Given the description of an element on the screen output the (x, y) to click on. 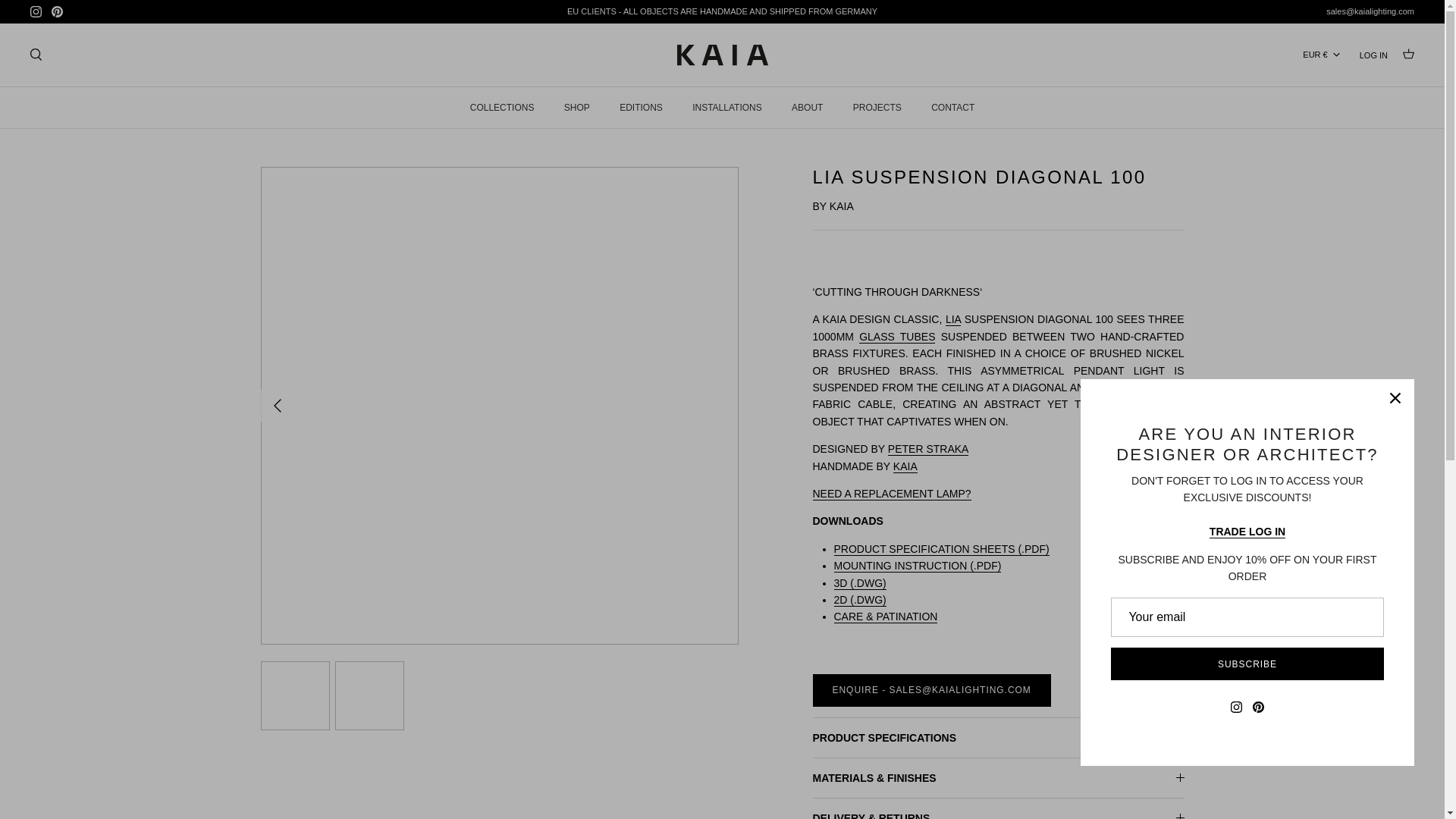
Pinterest (56, 11)
Pinterest (56, 11)
LED tube light 100, opal (896, 336)
Instagram (36, 11)
INSTALLATIONS (727, 106)
SHOP (577, 106)
PROJECTS (877, 106)
Down (1336, 54)
EDITIONS (641, 106)
Instagram (36, 11)
LEFT (276, 405)
CONTACT (952, 106)
Designer Peter Straka (928, 449)
Kaia  (722, 54)
ABOUT (806, 106)
